Given the description of an element on the screen output the (x, y) to click on. 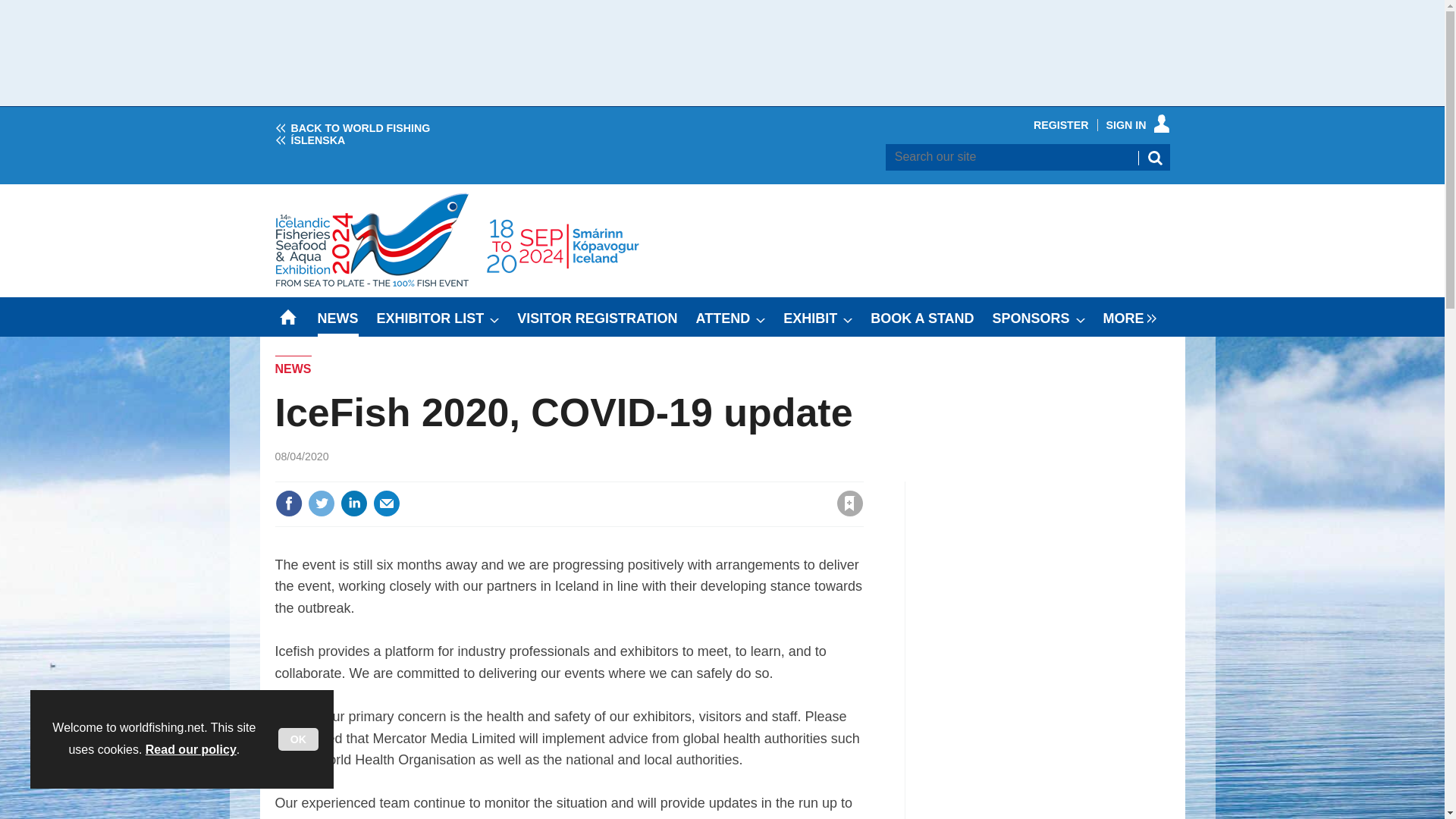
3rd party ad content (722, 53)
Share this on Linked in (352, 502)
SIGN IN (1138, 124)
Email this article (386, 502)
Share this on Facebook (288, 502)
Share this on Twitter (320, 502)
REGISTER (1061, 124)
SEARCH (1153, 157)
Read our policy (190, 748)
OK (298, 739)
BACK TO WORLD FISHING (352, 128)
